Given the description of an element on the screen output the (x, y) to click on. 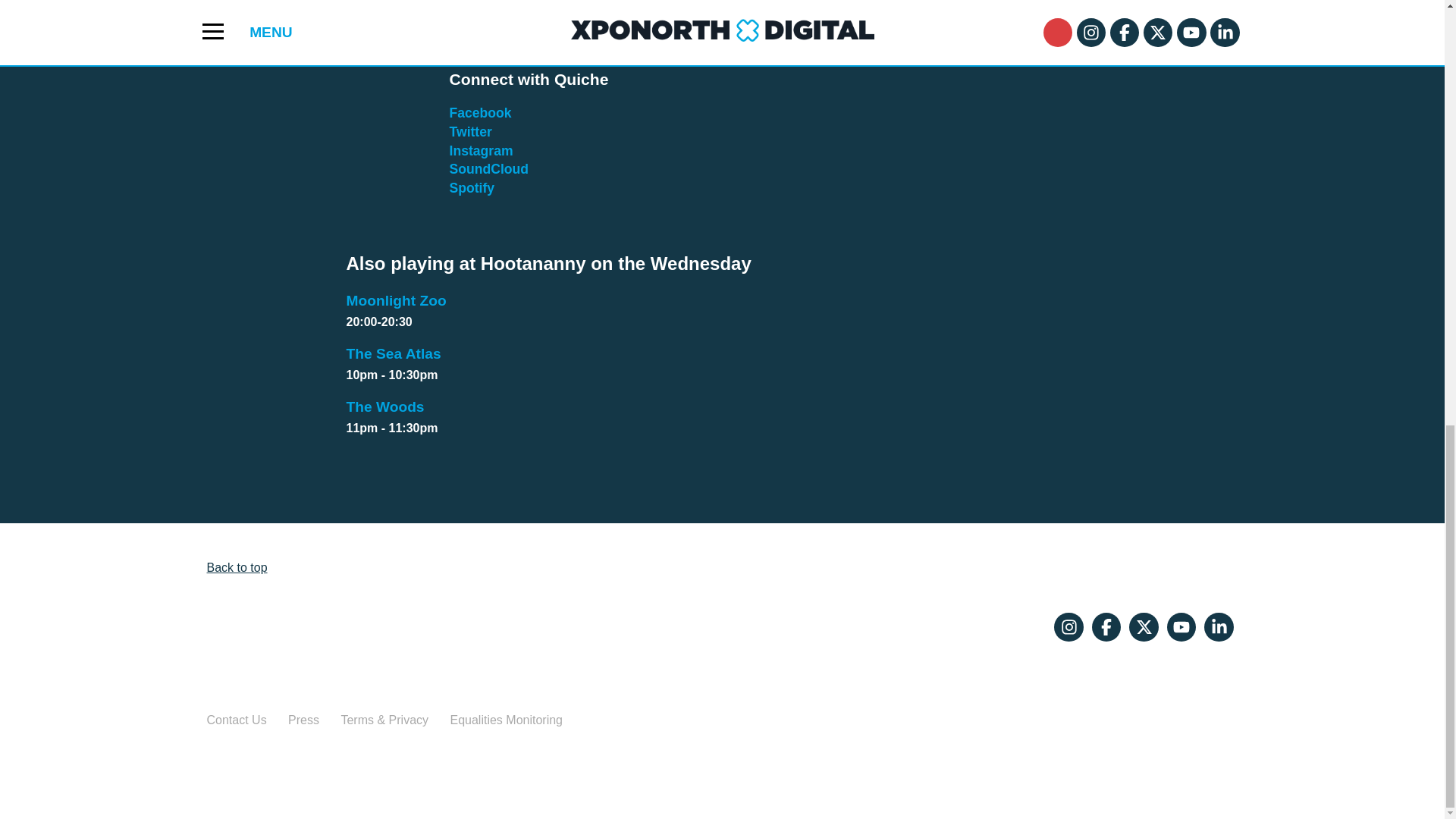
Spotify (721, 417)
Facebook (721, 311)
Twitter (471, 187)
Spotify (479, 112)
Instagram (470, 131)
SoundCloud (471, 187)
Twitter (480, 150)
Facebook (488, 168)
